Given the description of an element on the screen output the (x, y) to click on. 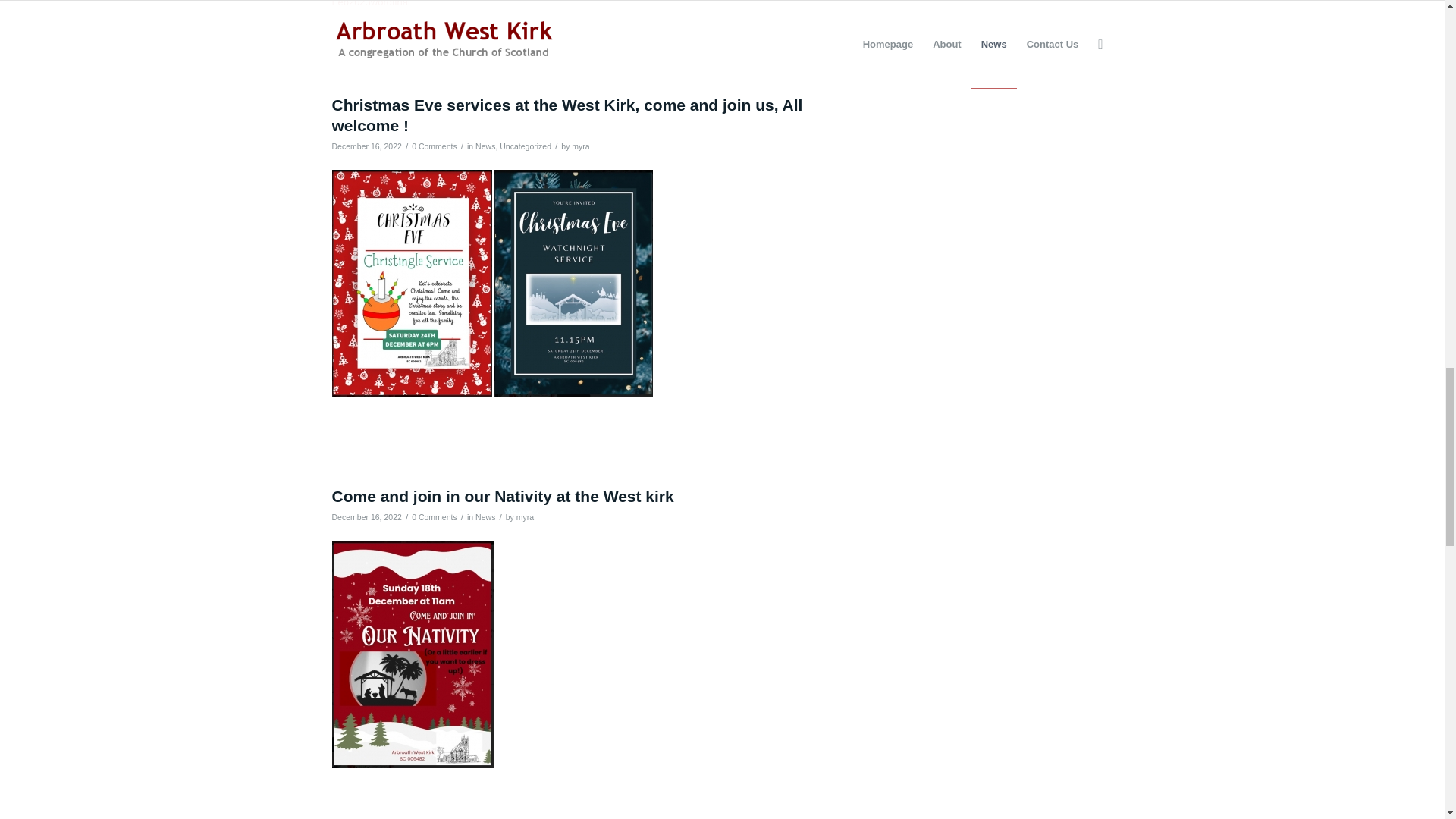
Posts by myra (580, 145)
Feb2023wordfinal (370, 3)
0 Comments (434, 145)
News (485, 145)
